Given the description of an element on the screen output the (x, y) to click on. 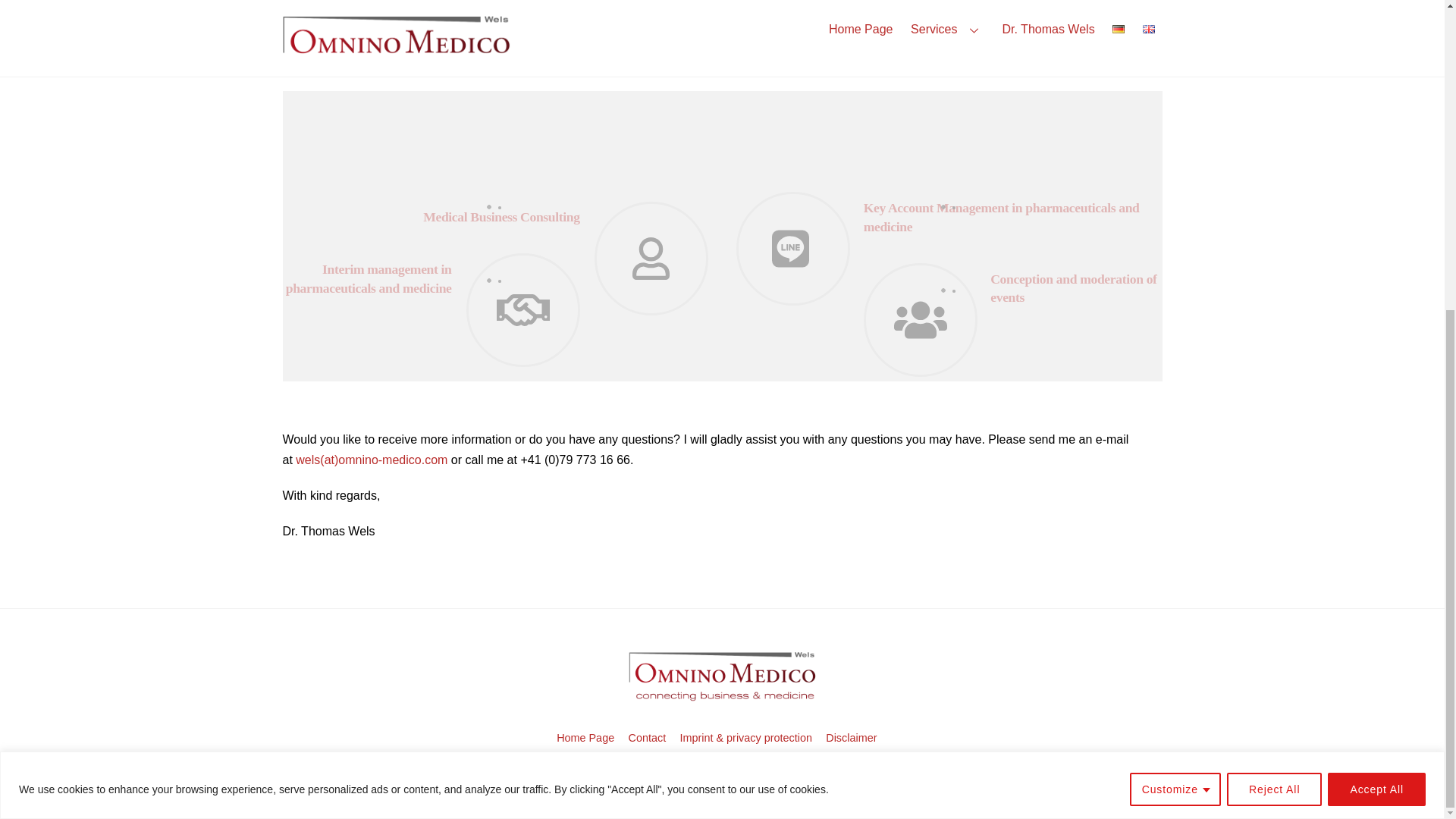
Reject All (1274, 296)
Accept All (1376, 296)
Home Page (585, 737)
Omnino Medico (721, 698)
Customize (1175, 296)
Logo Omnino Medico (721, 677)
Key Account Management in pharmaceuticals and medicine (1001, 216)
Interim management in pharmaceuticals and medicine (368, 278)
Home Page (948, 21)
Medical Business Consulting (501, 216)
Conception and moderation of events (1073, 288)
